Given the description of an element on the screen output the (x, y) to click on. 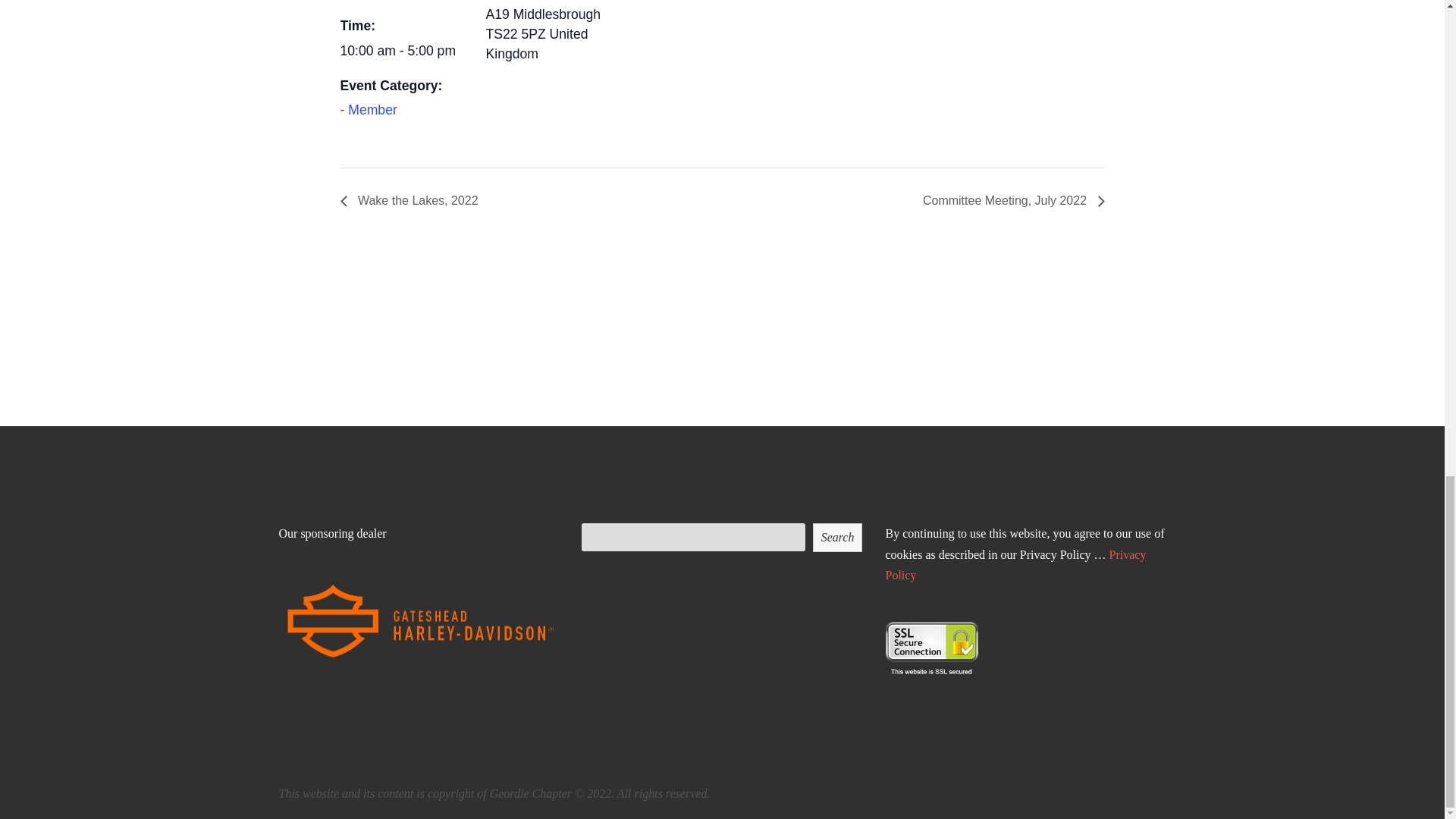
2022-07-17 (403, 51)
